Given the description of an element on the screen output the (x, y) to click on. 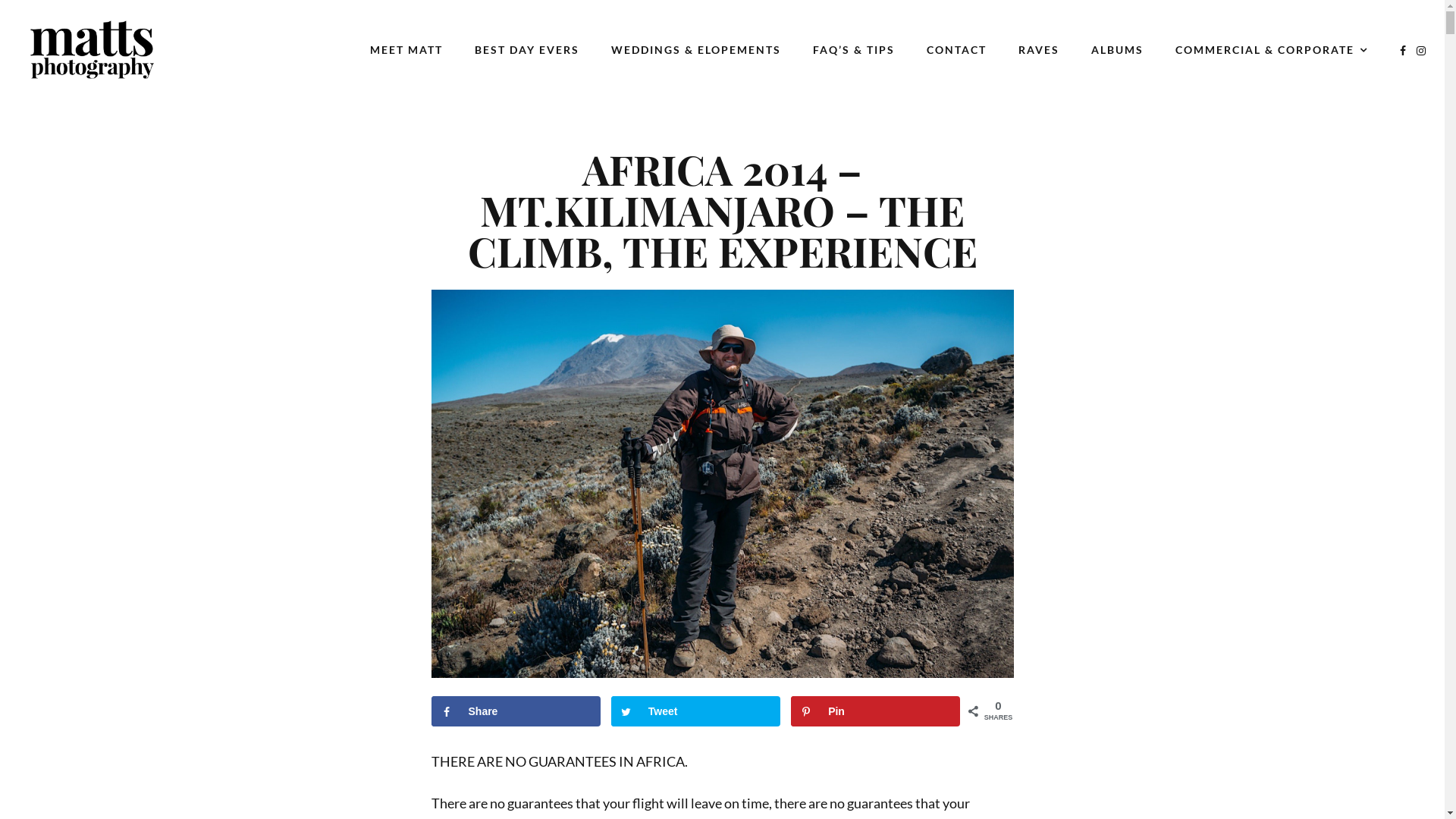
WEDDINGS & ELOPEMENTS Element type: text (696, 49)
Share Element type: text (514, 711)
CONTACT Element type: text (956, 49)
BEST DAY EVERS Element type: text (526, 49)
COMMERCIAL & CORPORATE Element type: text (1271, 49)
RAVES Element type: text (1038, 49)
Tweet Element type: text (695, 711)
ALBUMS Element type: text (1117, 49)
Pin Element type: text (875, 711)
MEET MATT Element type: text (406, 49)
